Given the description of an element on the screen output the (x, y) to click on. 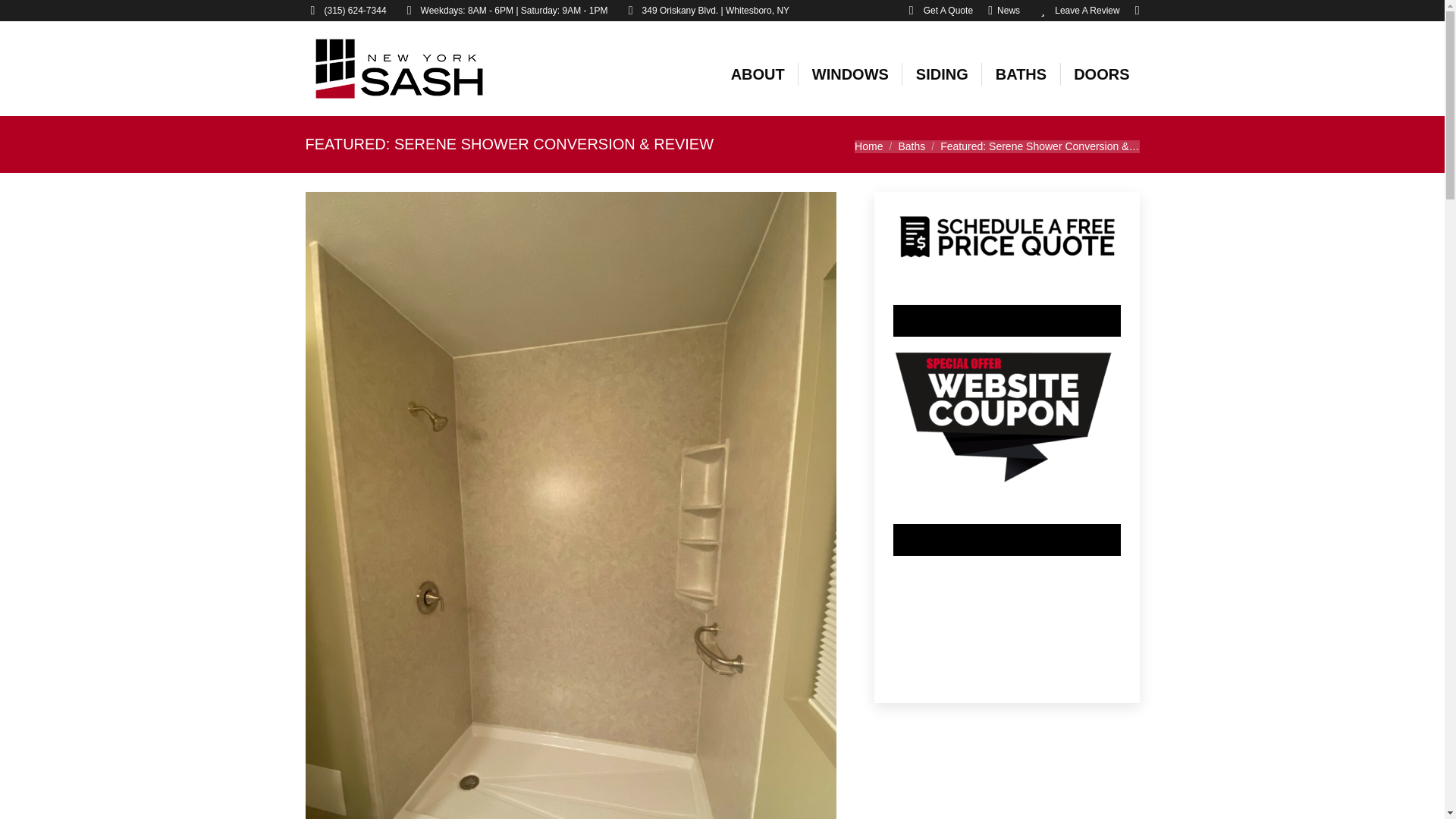
Home (868, 145)
BATHS (1020, 74)
WINDOWS (850, 74)
SIDING (942, 74)
Leave A Review (1077, 10)
ABOUT (758, 74)
Go! (24, 16)
News (1004, 10)
DOORS (1101, 74)
Baths (911, 145)
Get A Quote (938, 10)
Website Savings (1007, 415)
